Given the description of an element on the screen output the (x, y) to click on. 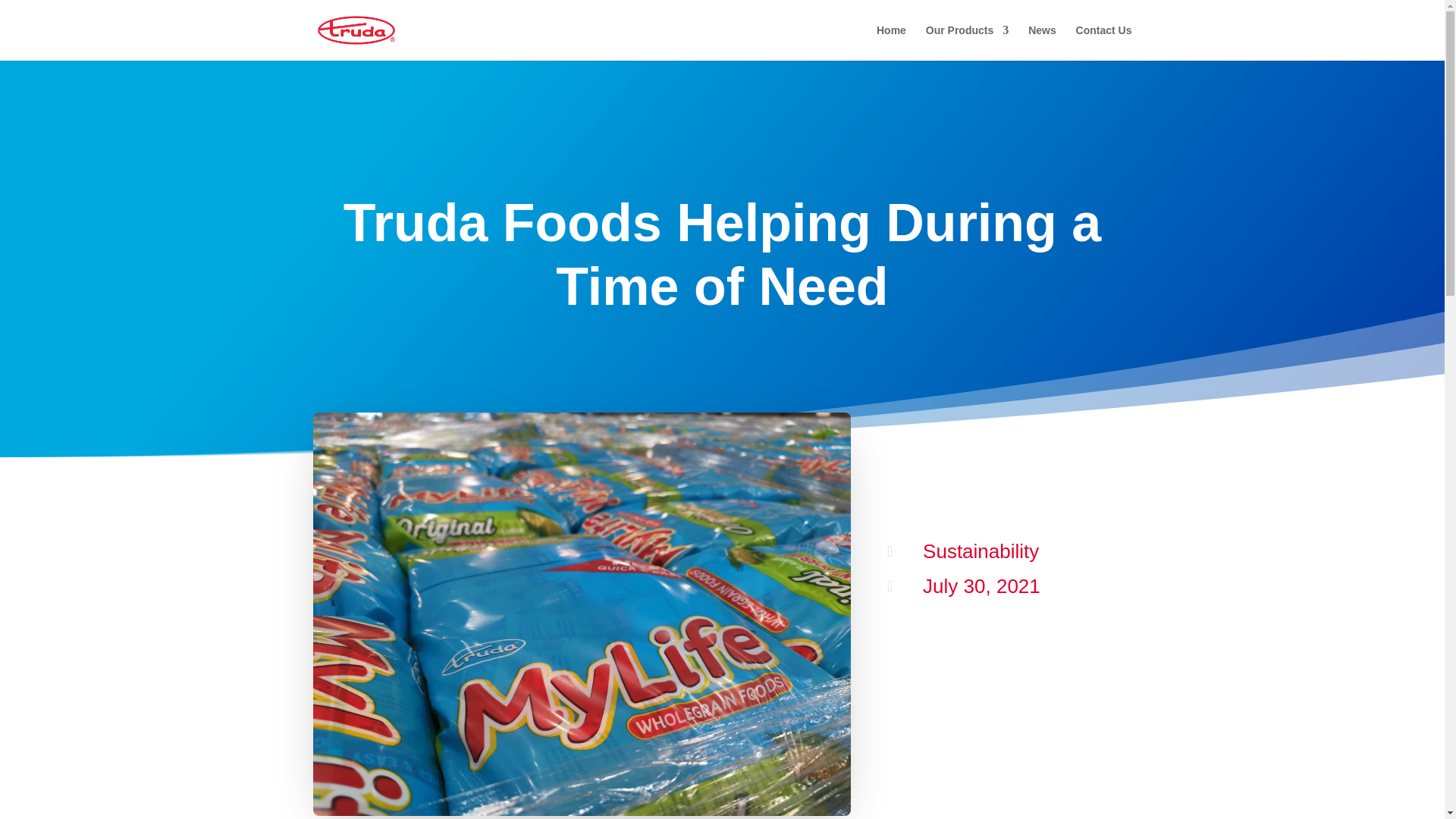
Our Products (967, 42)
Sustainability (981, 550)
Contact Us (1103, 42)
